Given the description of an element on the screen output the (x, y) to click on. 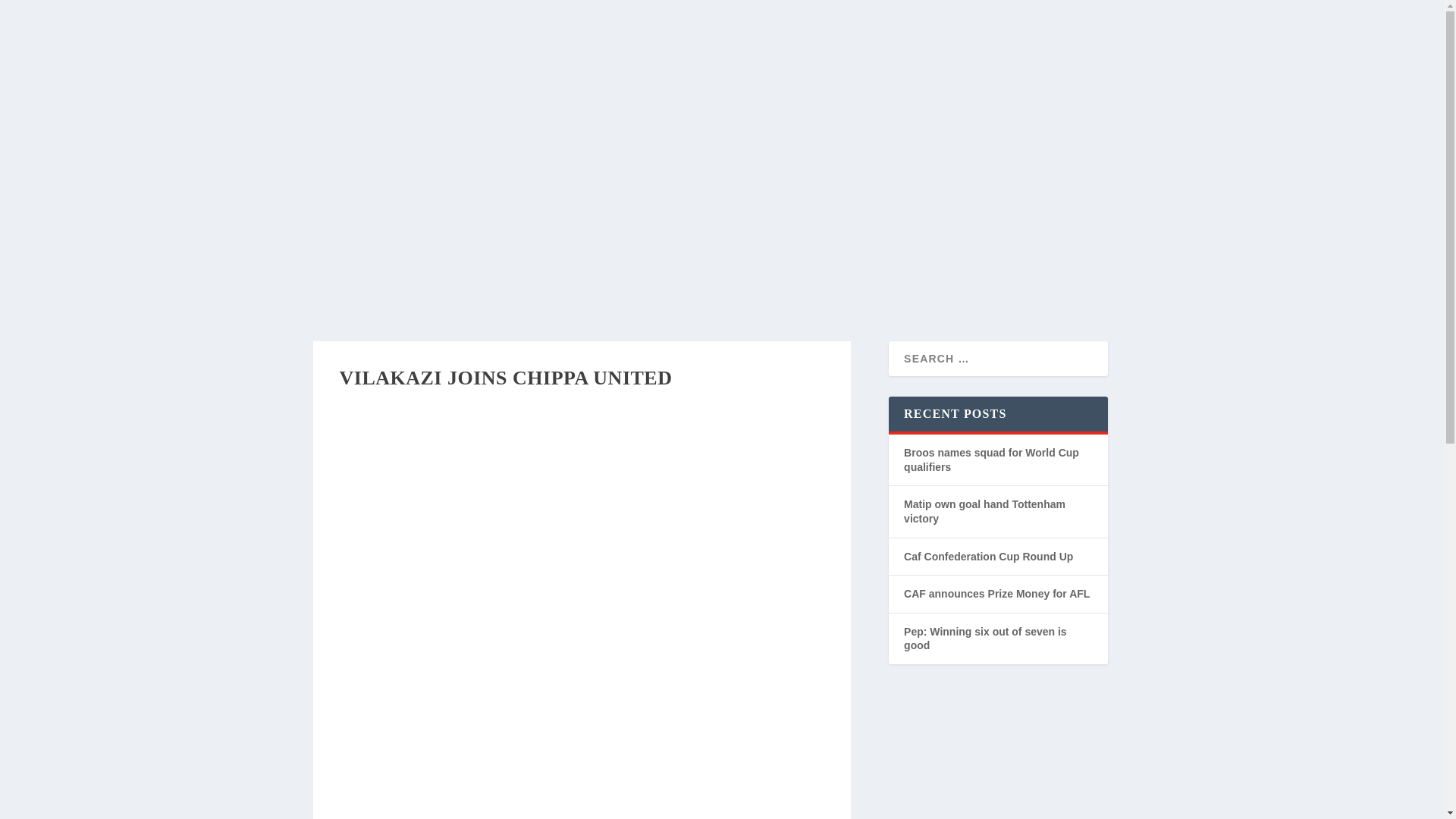
Search (858, 117)
